Given the description of an element on the screen output the (x, y) to click on. 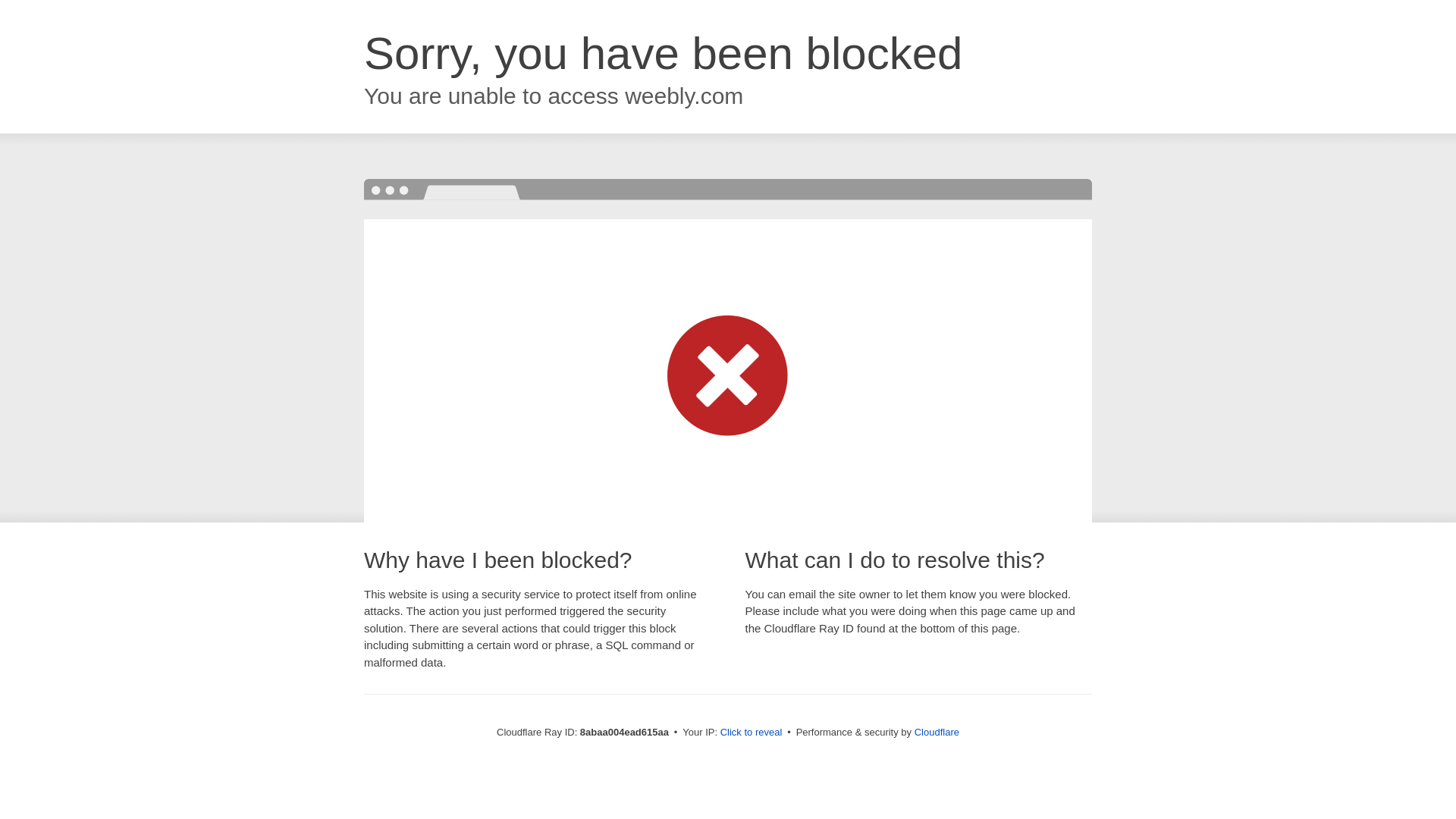
Click to reveal (751, 732)
Cloudflare (936, 731)
